Given the description of an element on the screen output the (x, y) to click on. 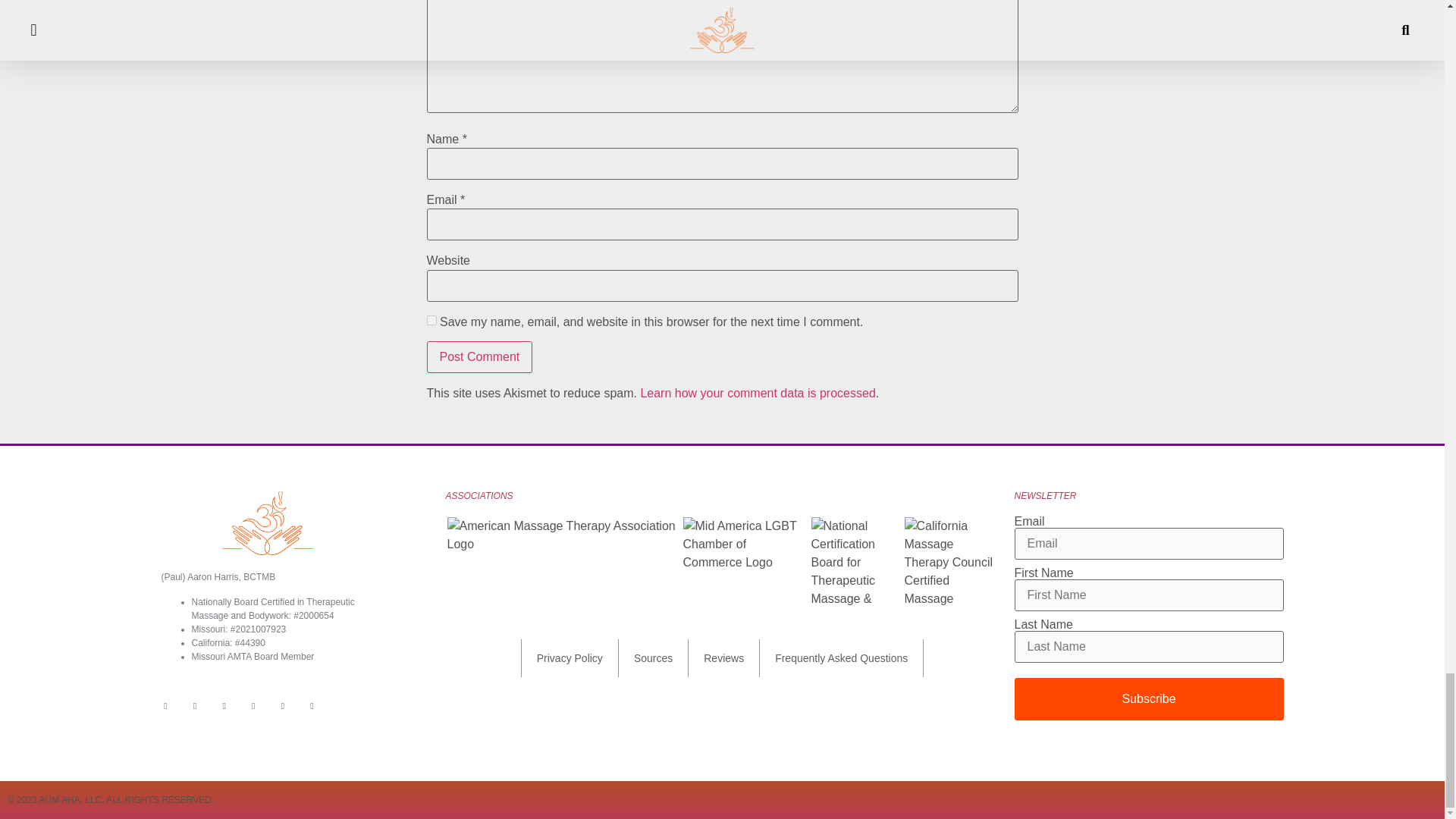
AMTA Logo (562, 534)
kclgbt (745, 543)
yes (430, 320)
Post Comment (479, 357)
